Given the description of an element on the screen output the (x, y) to click on. 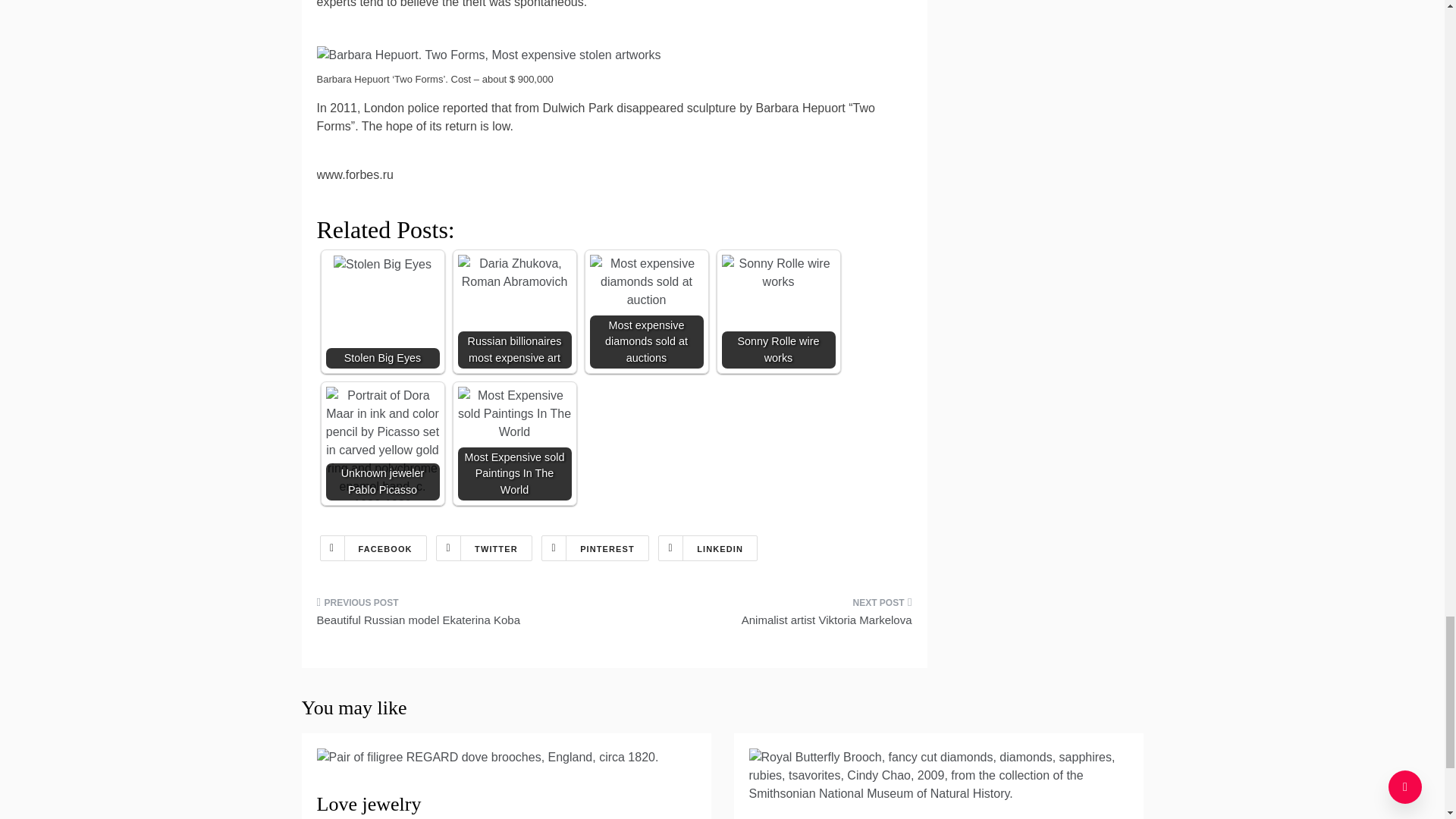
Stolen Big Eyes (381, 264)
Unknown jeweler Pablo Picasso (382, 450)
FACEBOOK (373, 548)
Stolen Big Eyes (382, 311)
PINTEREST (595, 548)
Love jewelry (369, 803)
Sonny Rolle wire works (778, 272)
Russian billionaires most expensive art (515, 272)
Animalist artist Viktoria Markelova (769, 616)
Sonny Rolle wire works (778, 311)
Beautiful Russian model Ekaterina Koba (460, 616)
LINKEDIN (707, 548)
Most Expensive sold Paintings In The World (515, 413)
Most expensive diamonds sold at auctions (646, 311)
Most expensive diamonds sold at auctions (646, 281)
